Given the description of an element on the screen output the (x, y) to click on. 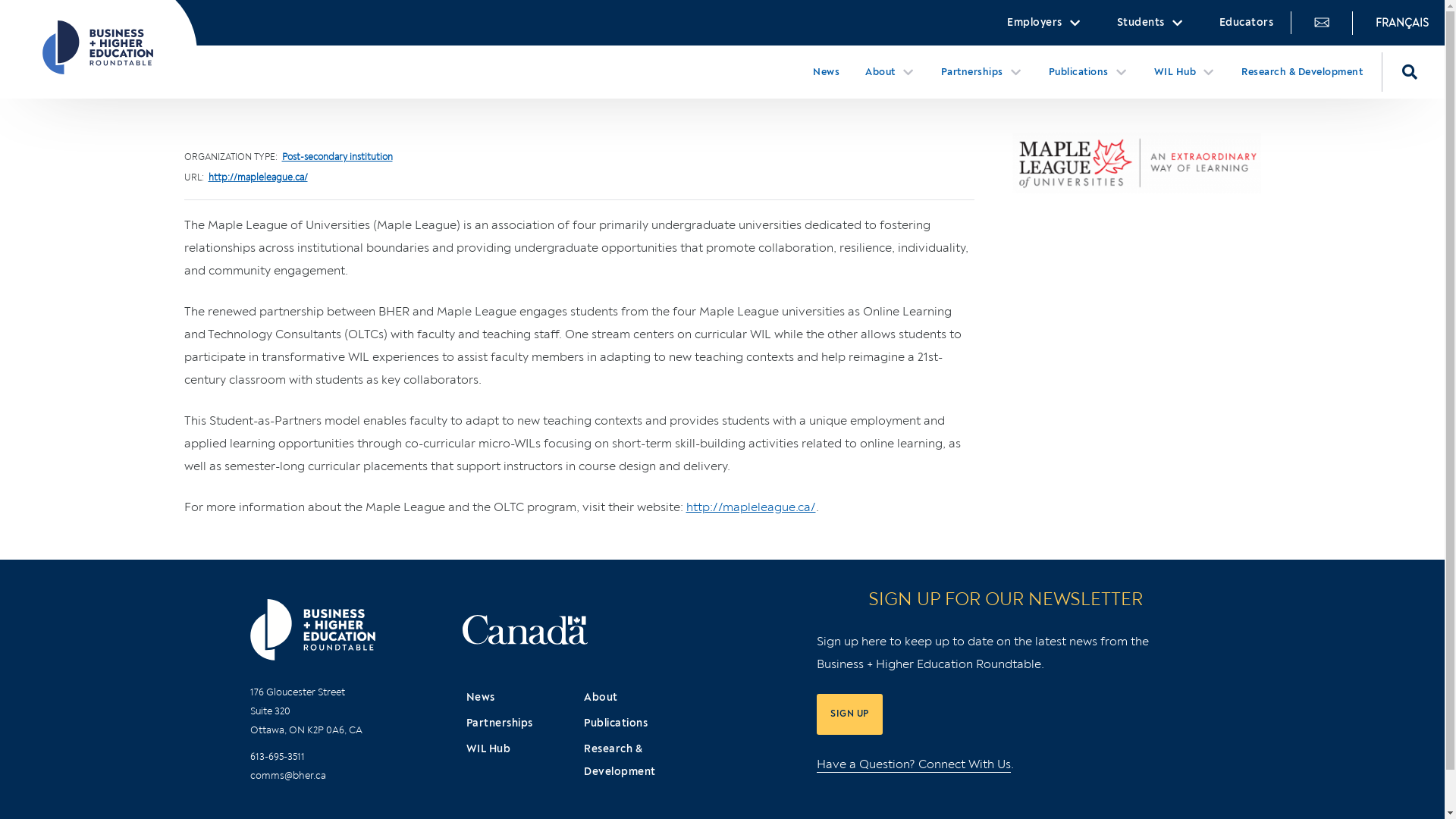
Partnerships Element type: text (981, 71)
Educators Element type: text (1245, 22)
News Element type: text (826, 71)
Skip to main content Element type: text (9, 9)
Publications Element type: text (1088, 71)
About Element type: text (890, 71)
SIGN UP Element type: text (849, 713)
About Element type: text (638, 697)
http://mapleleague.ca/ Element type: text (257, 177)
Research & Development Element type: text (1301, 71)
Publications Element type: text (638, 723)
WIL Hub Element type: text (521, 749)
News Element type: text (521, 697)
Email Element type: text (1321, 22)
Post-secondary institution Element type: text (337, 157)
Search Element type: text (1020, 409)
Toggle Search Element type: text (1409, 71)
Home Element type: hover (104, 47)
http://mapleleague.ca/ Element type: text (750, 506)
WIL Hub Element type: text (1184, 71)
Students Element type: text (1150, 22)
comms@bher.ca Element type: text (288, 775)
Research & Development Element type: text (638, 760)
Employers Element type: text (1044, 22)
Partnerships Element type: text (521, 723)
Have a Question? Connect With Us Element type: text (913, 764)
